Given the description of an element on the screen output the (x, y) to click on. 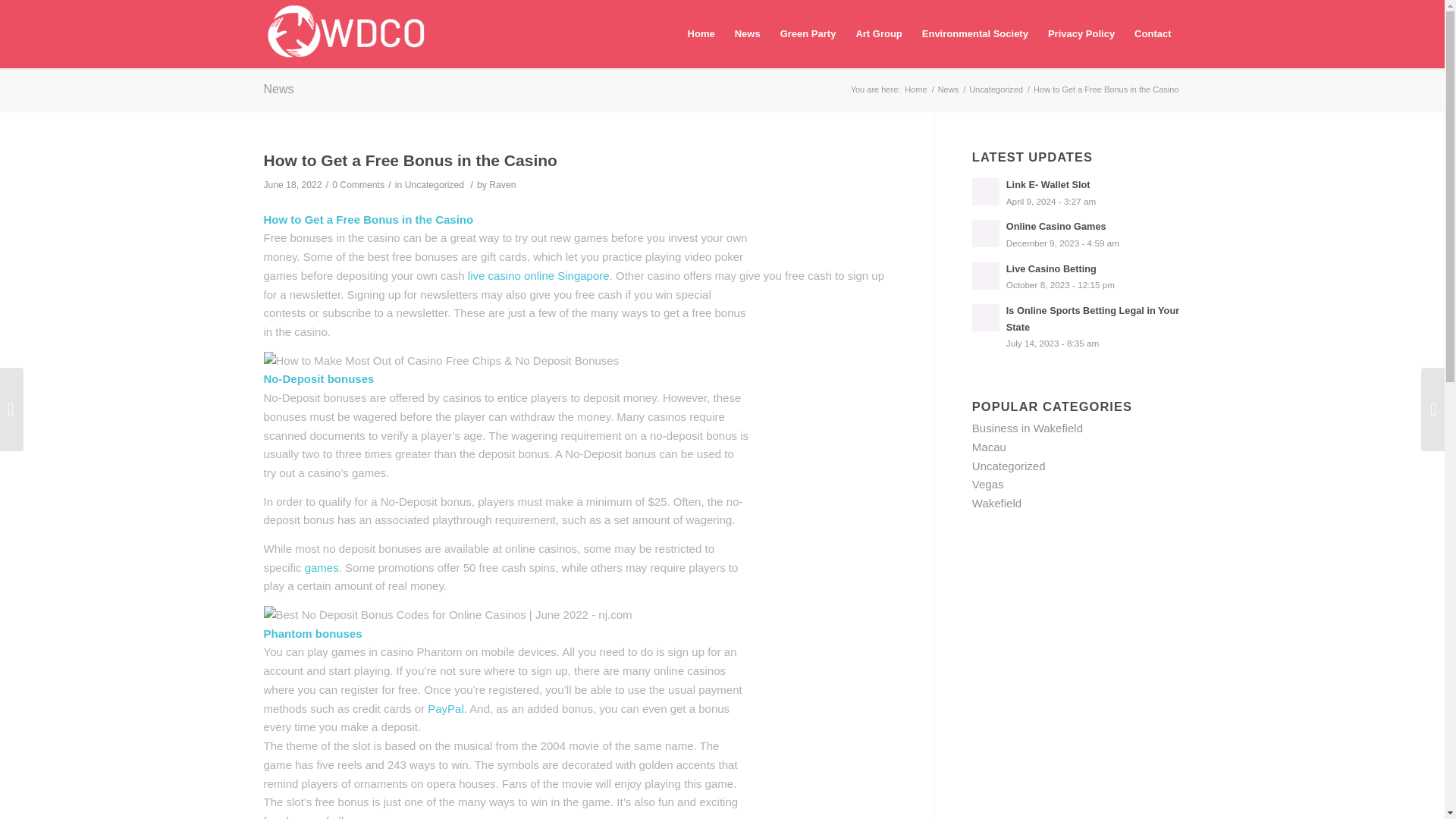
Raven (1076, 192)
Permanent Link: News (502, 184)
Home (278, 88)
0 Comments (915, 89)
games (357, 184)
Macau (321, 567)
Posts by Raven (989, 446)
Uncategorized (502, 184)
How to Get a Free Bonus in the Casino (434, 184)
News (410, 159)
Business in Wakefield (948, 89)
Privacy Policy (1027, 427)
News (1081, 33)
